Given the description of an element on the screen output the (x, y) to click on. 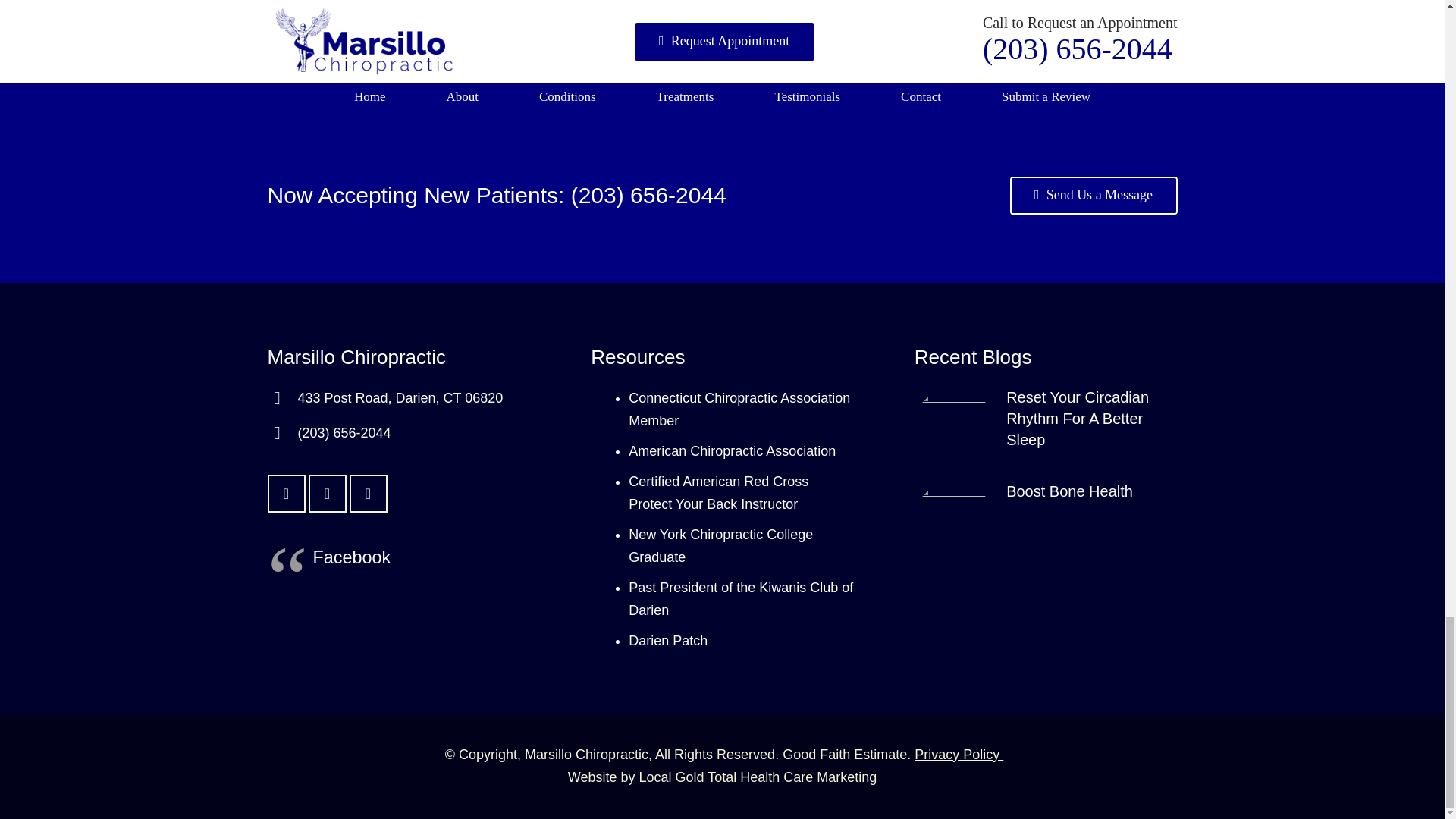
Email (285, 493)
Past President of the Kiwanis Club of Darien (740, 598)
New York Chiropractic College Graduate (720, 546)
Google (368, 493)
Facebook (326, 493)
Connecticut Chiropractic Association Member (739, 409)
Certified American Red Cross Protect Your Back Instructor (718, 492)
Send Us a Message (1093, 195)
Facebook (351, 557)
American Chiropractic Association (731, 450)
